Given the description of an element on the screen output the (x, y) to click on. 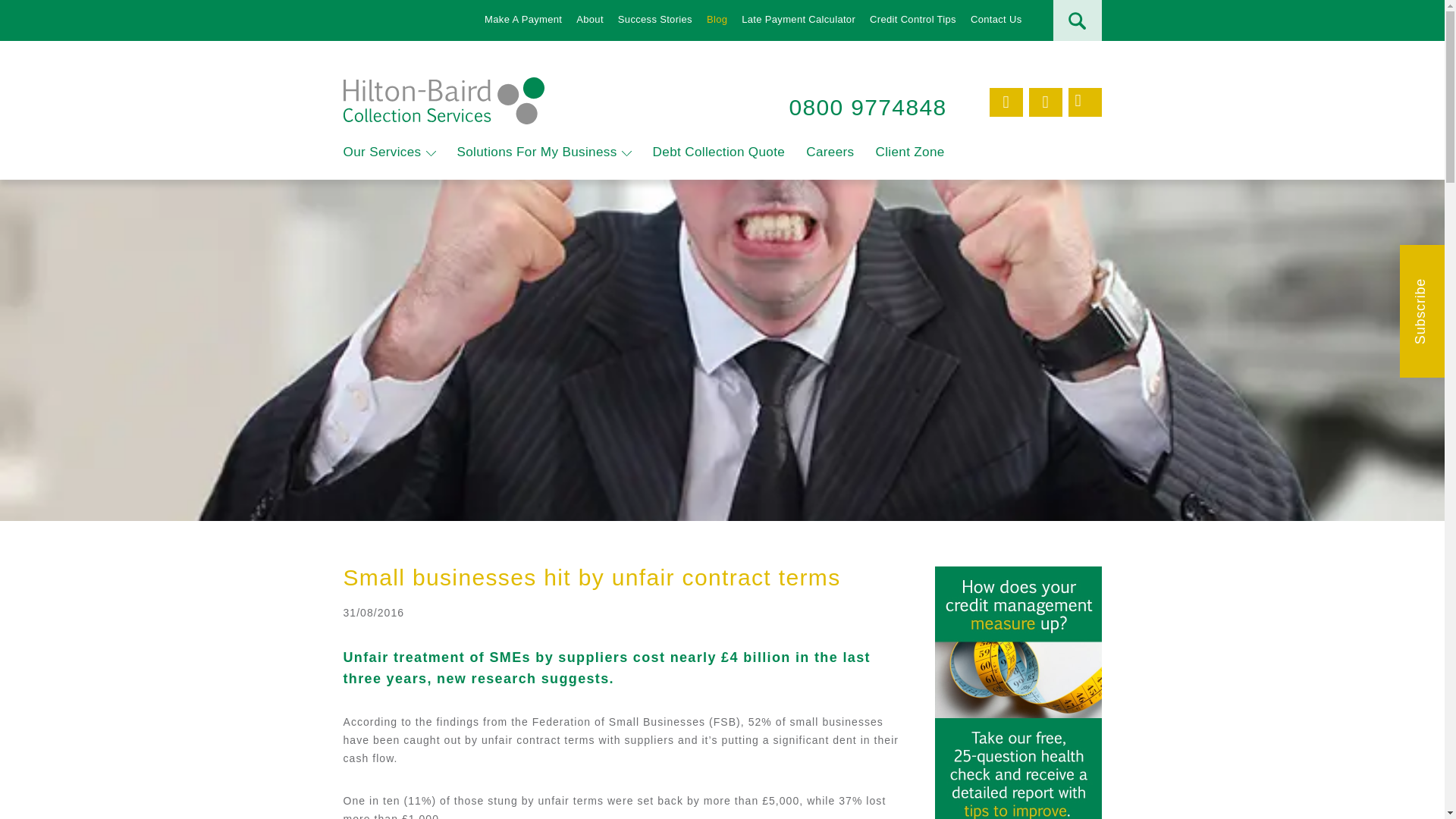
Twitter (1005, 102)
Solutions For My Business (536, 151)
Make A Payment (523, 19)
Debt Collection Quote (719, 151)
Contact Us (996, 19)
Facebook (1083, 102)
Careers (829, 151)
Credit Control Tips (912, 19)
Our Services (381, 151)
Late Payment Calculator (798, 19)
